Given the description of an element on the screen output the (x, y) to click on. 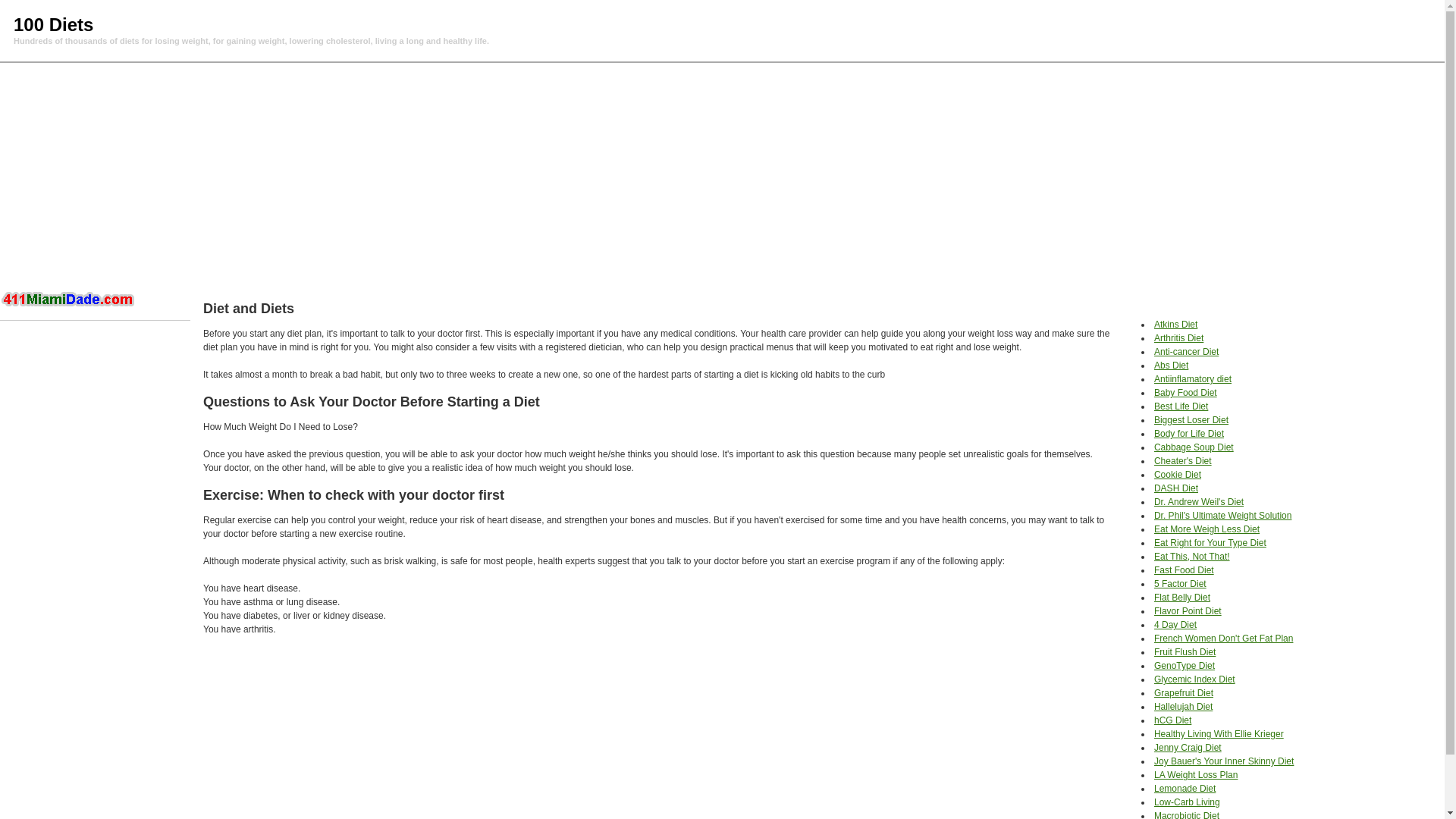
Eat More Weigh Less Diet Element type: text (1206, 529)
Cookie Diet Element type: text (1177, 474)
Joy Bauer's Your Inner Skinny Diet Element type: text (1223, 761)
Arthritis Diet Element type: text (1178, 337)
Atkins Diet Element type: text (1175, 324)
Biggest Loser Diet Element type: text (1191, 419)
Dr. Andrew Weil's Diet Element type: text (1198, 501)
Healthy Living With Ellie Krieger Element type: text (1218, 733)
4 Day Diet Element type: text (1175, 624)
Cheater's Diet Element type: text (1182, 460)
Eat Right for Your Type Diet Element type: text (1210, 542)
Anti-cancer Diet Element type: text (1186, 351)
Flavor Point Diet Element type: text (1187, 610)
Jenny Craig Diet Element type: text (1187, 747)
DASH Diet Element type: text (1176, 488)
Baby Food Diet Element type: text (1185, 392)
Abs Diet Element type: text (1171, 365)
Hotel in Miami Element type: hover (69, 298)
French Women Don't Get Fat Plan Element type: text (1223, 638)
Glycemic Index Diet Element type: text (1194, 679)
Fruit Flush Diet Element type: text (1184, 651)
Dr. Phil's Ultimate Weight Solution Element type: text (1222, 515)
Flat Belly Diet Element type: text (1182, 597)
Antiinflamatory diet Element type: text (1192, 378)
LA Weight Loss Plan Element type: text (1196, 774)
Best Life Diet Element type: text (1181, 406)
Low-Carb Living Element type: text (1187, 802)
Advertisement Element type: hover (721, 176)
hCG Diet Element type: text (1172, 720)
Cabbage Soup Diet Element type: text (1193, 447)
GenoType Diet Element type: text (1184, 665)
5 Factor Diet Element type: text (1180, 583)
Eat This, Not That! Element type: text (1192, 556)
Grapefruit Diet Element type: text (1183, 692)
Hallelujah Diet Element type: text (1183, 706)
Body for Life Diet Element type: text (1188, 433)
Lemonade Diet Element type: text (1184, 788)
Fast Food Diet Element type: text (1184, 569)
